Given the description of an element on the screen output the (x, y) to click on. 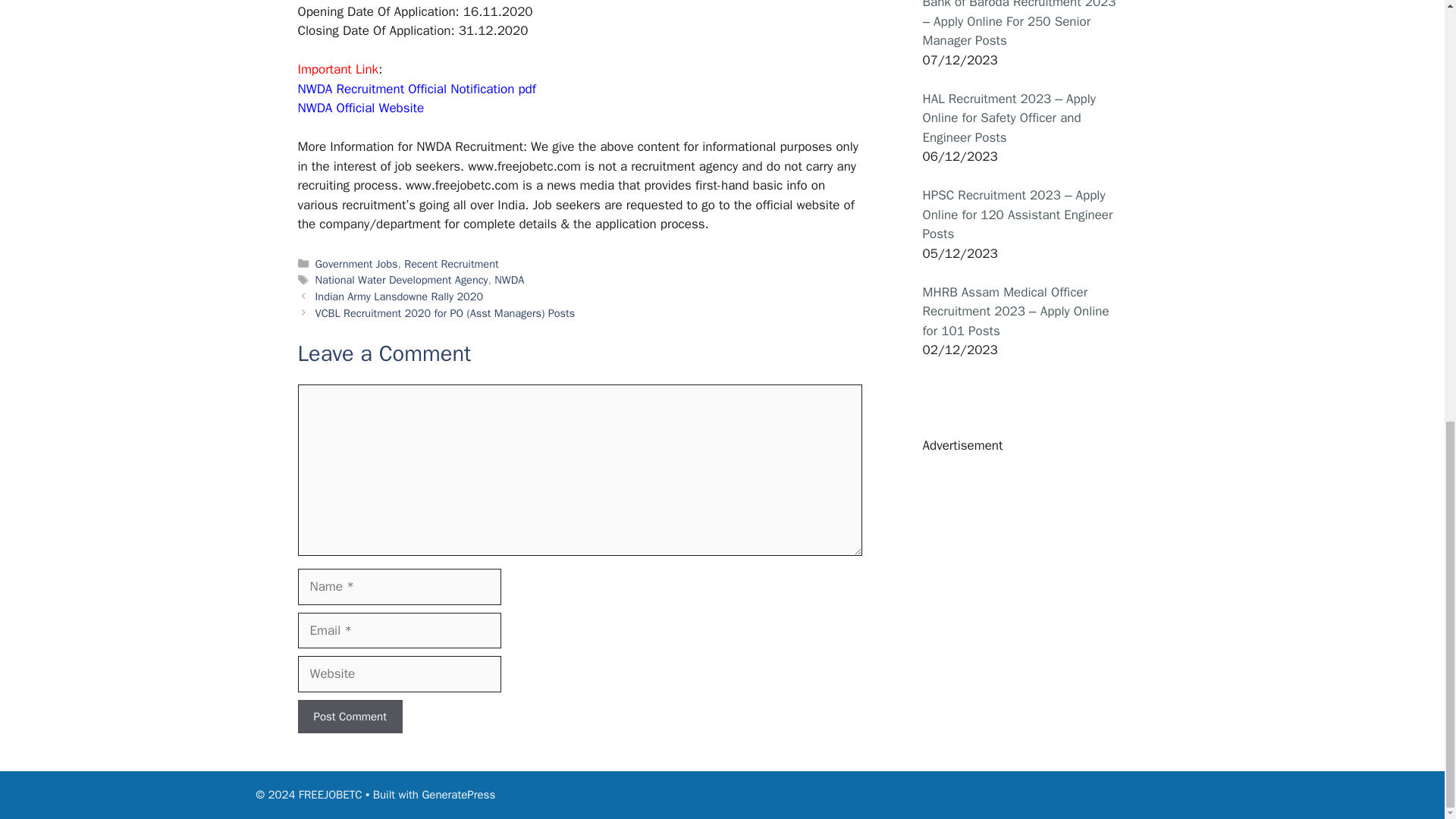
NWDA Recruitment Official Notification pdf (416, 89)
Recent Recruitment (450, 264)
GeneratePress (458, 794)
Government Jobs (356, 264)
National Water Development Agency (401, 279)
Post Comment (349, 716)
Scroll back to top (1406, 668)
Post Comment (349, 716)
Indian Army Lansdowne Rally 2020 (399, 296)
NWDA Official Website (360, 107)
